Given the description of an element on the screen output the (x, y) to click on. 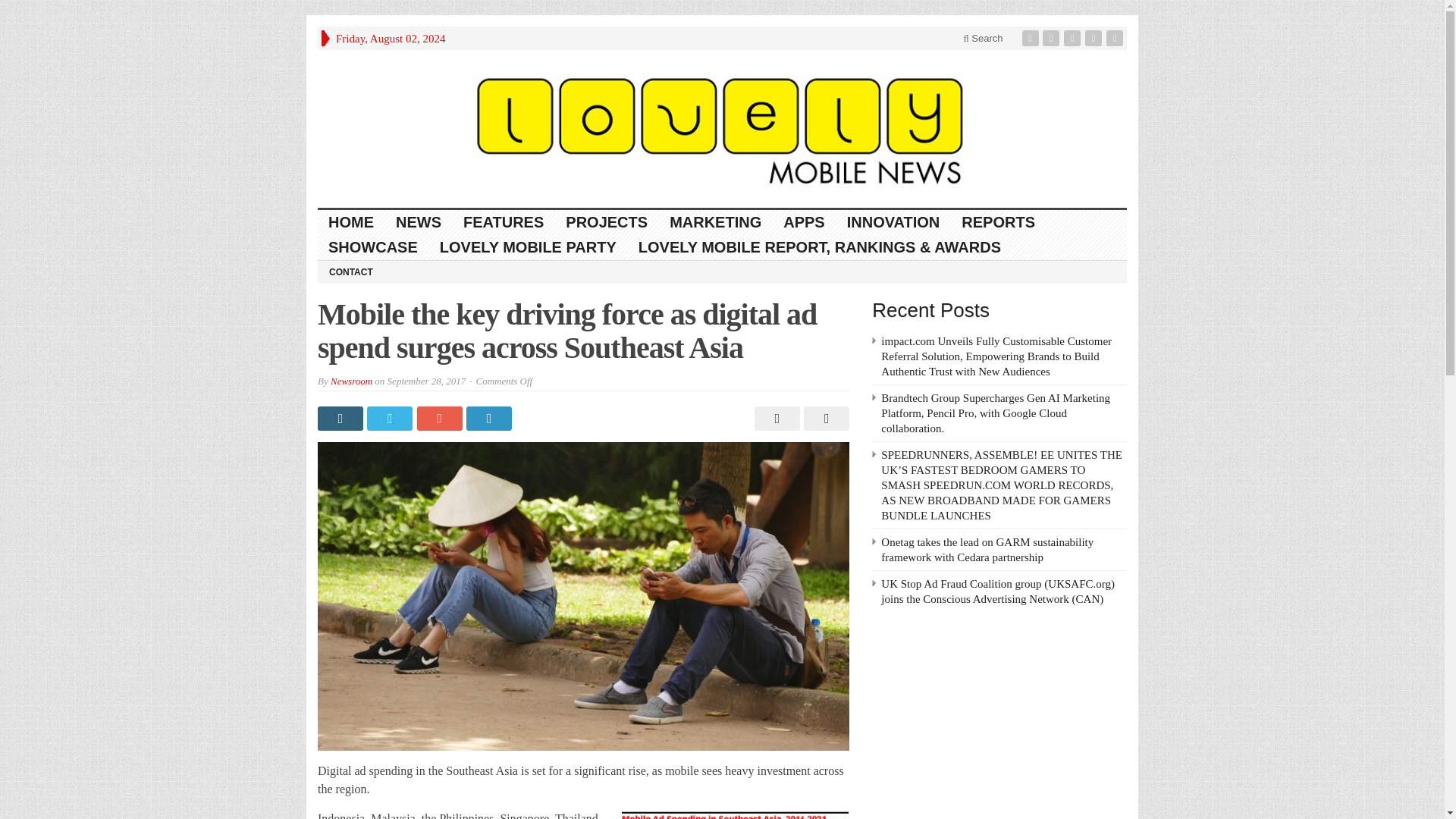
Share on LinkedIn (490, 418)
Subscribe by Email (1094, 37)
SHOWCASE (373, 247)
Twitter (1052, 37)
REPORTS (998, 222)
Share on Facebook (341, 418)
Print This Post (775, 418)
Lovely Mobile News (721, 128)
CONTACT (350, 271)
Search (982, 37)
